Given the description of an element on the screen output the (x, y) to click on. 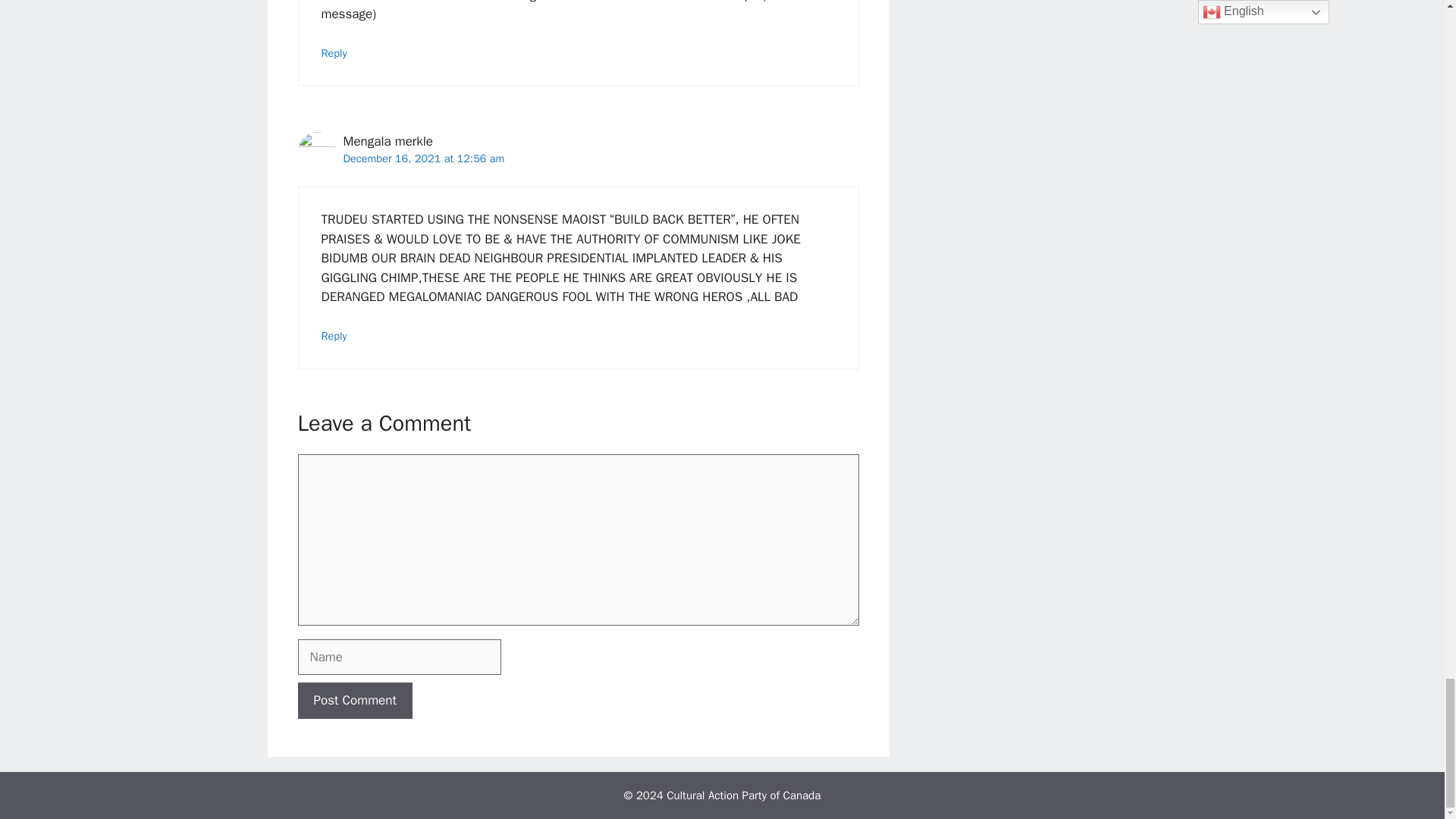
Post Comment (354, 700)
Reply (334, 336)
Reply (334, 52)
Post Comment (354, 700)
December 16, 2021 at 12:56 am (422, 158)
